Given the description of an element on the screen output the (x, y) to click on. 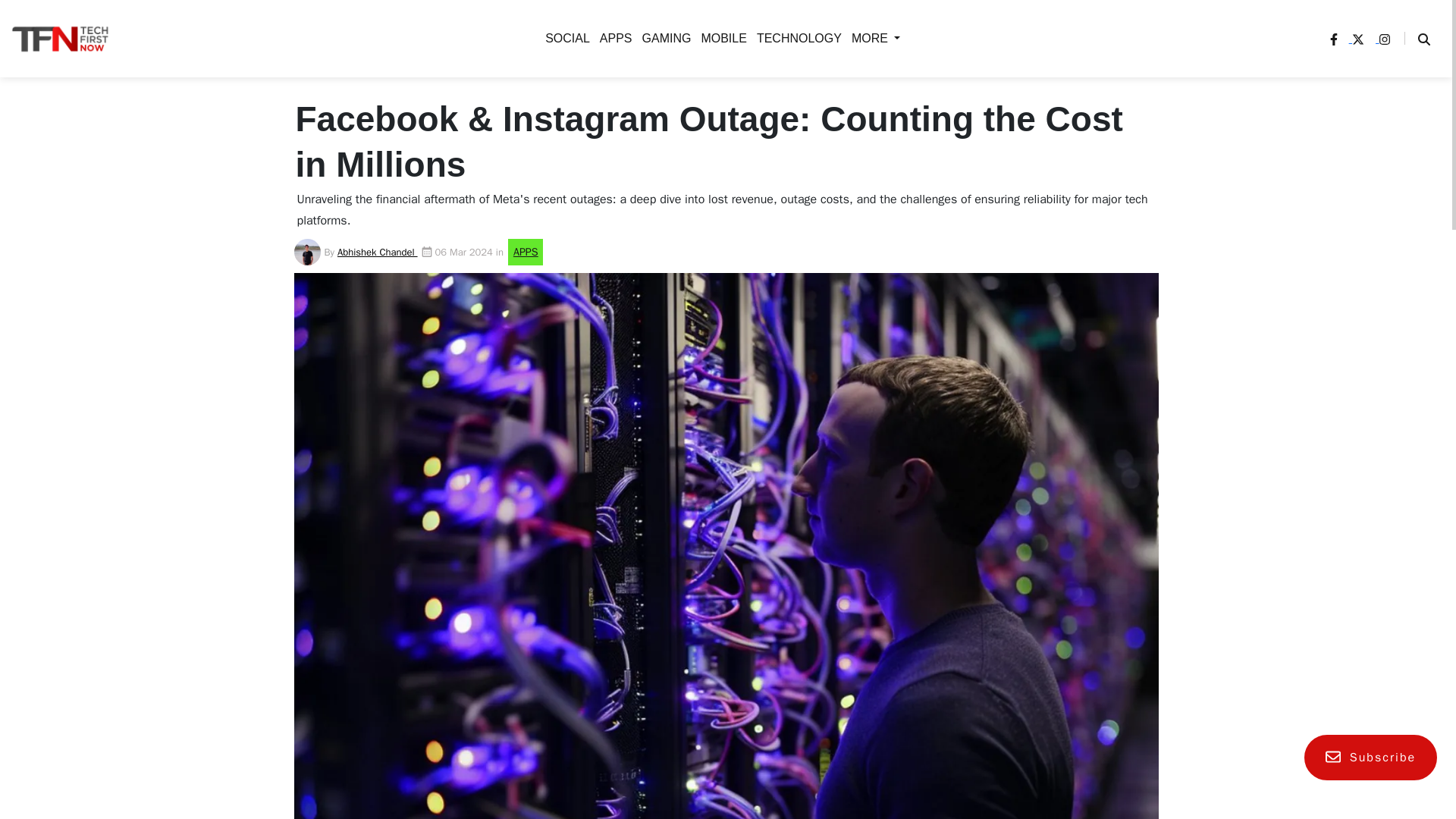
APPS (404, 193)
Abhishek Chandel (377, 251)
TECHNOLOGY (796, 38)
